Given the description of an element on the screen output the (x, y) to click on. 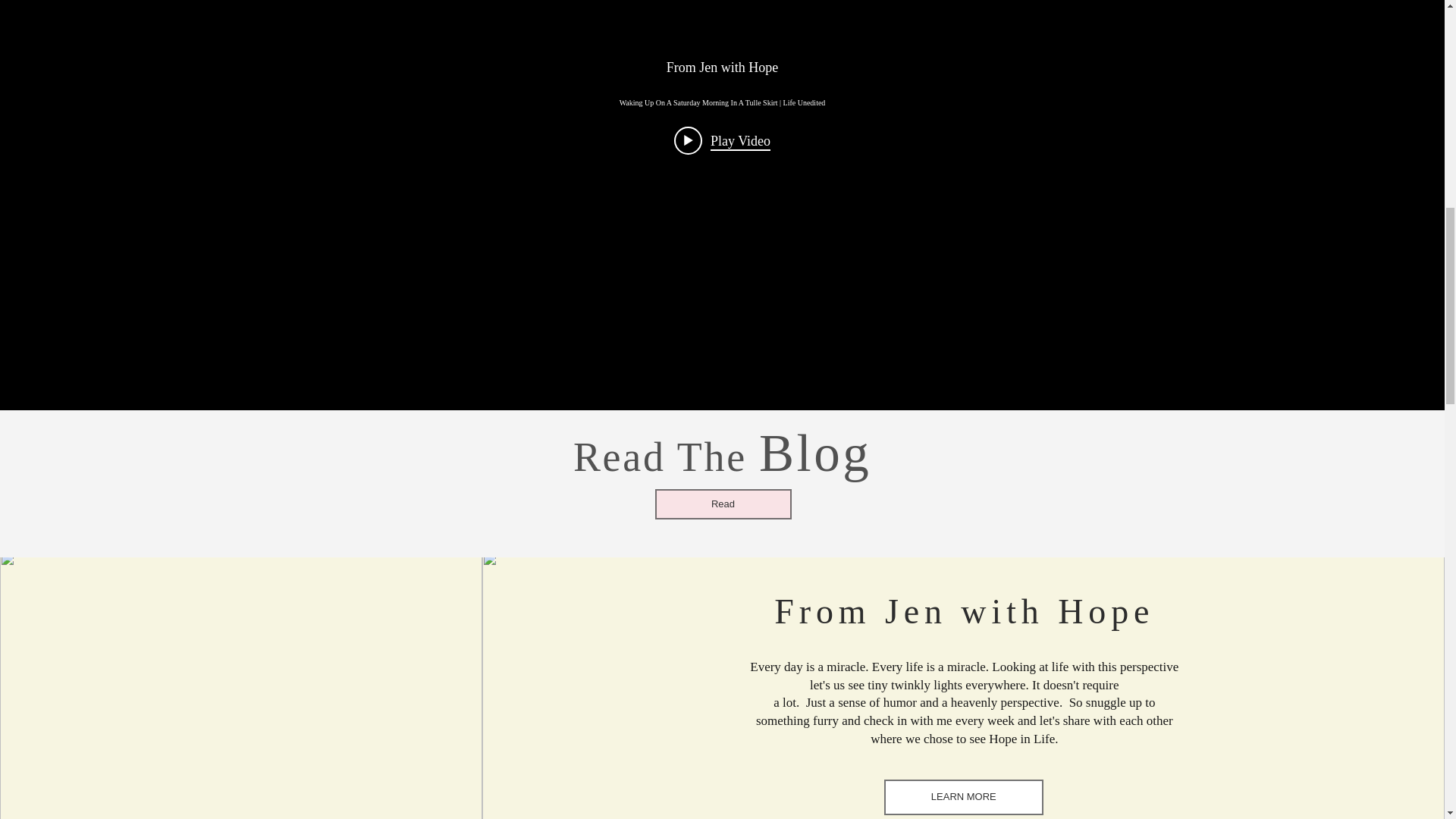
Play Video (722, 141)
Read (723, 503)
LEARN MORE (963, 796)
